Given the description of an element on the screen output the (x, y) to click on. 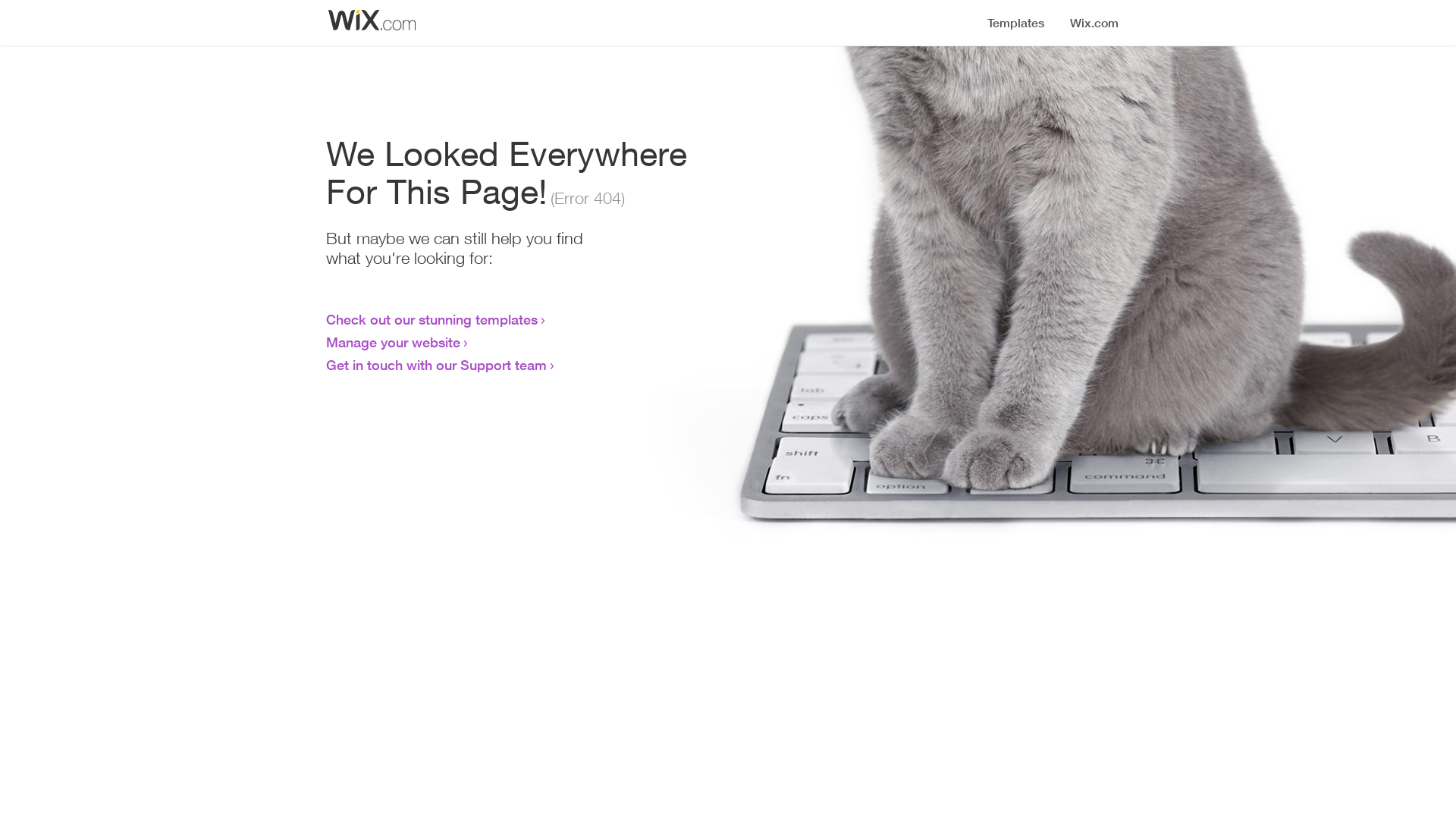
Get in touch with our Support team Element type: text (436, 364)
Manage your website Element type: text (393, 341)
Check out our stunning templates Element type: text (431, 318)
